Given the description of an element on the screen output the (x, y) to click on. 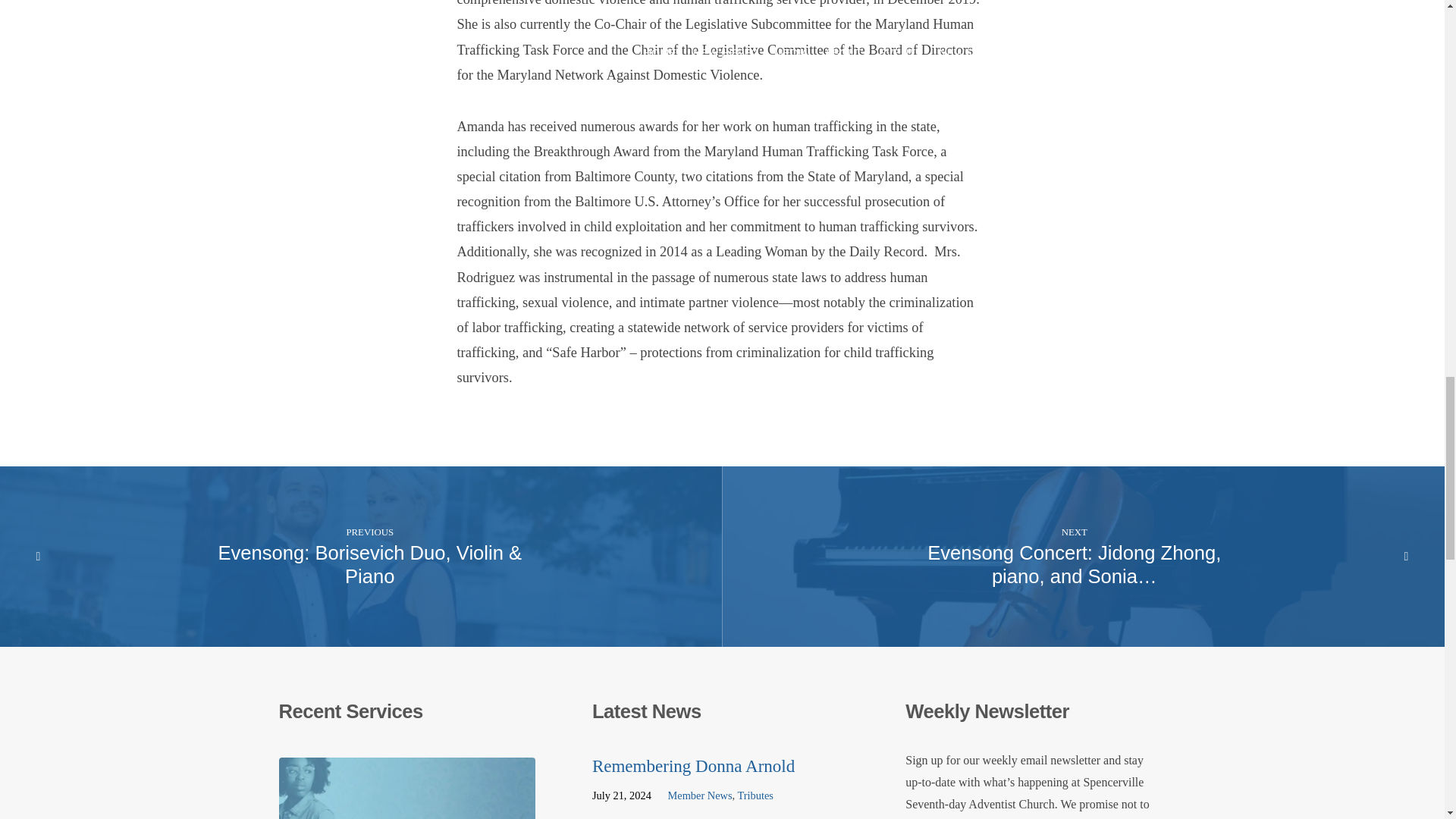
A Spiritual Rebirth (407, 809)
